Given the description of an element on the screen output the (x, y) to click on. 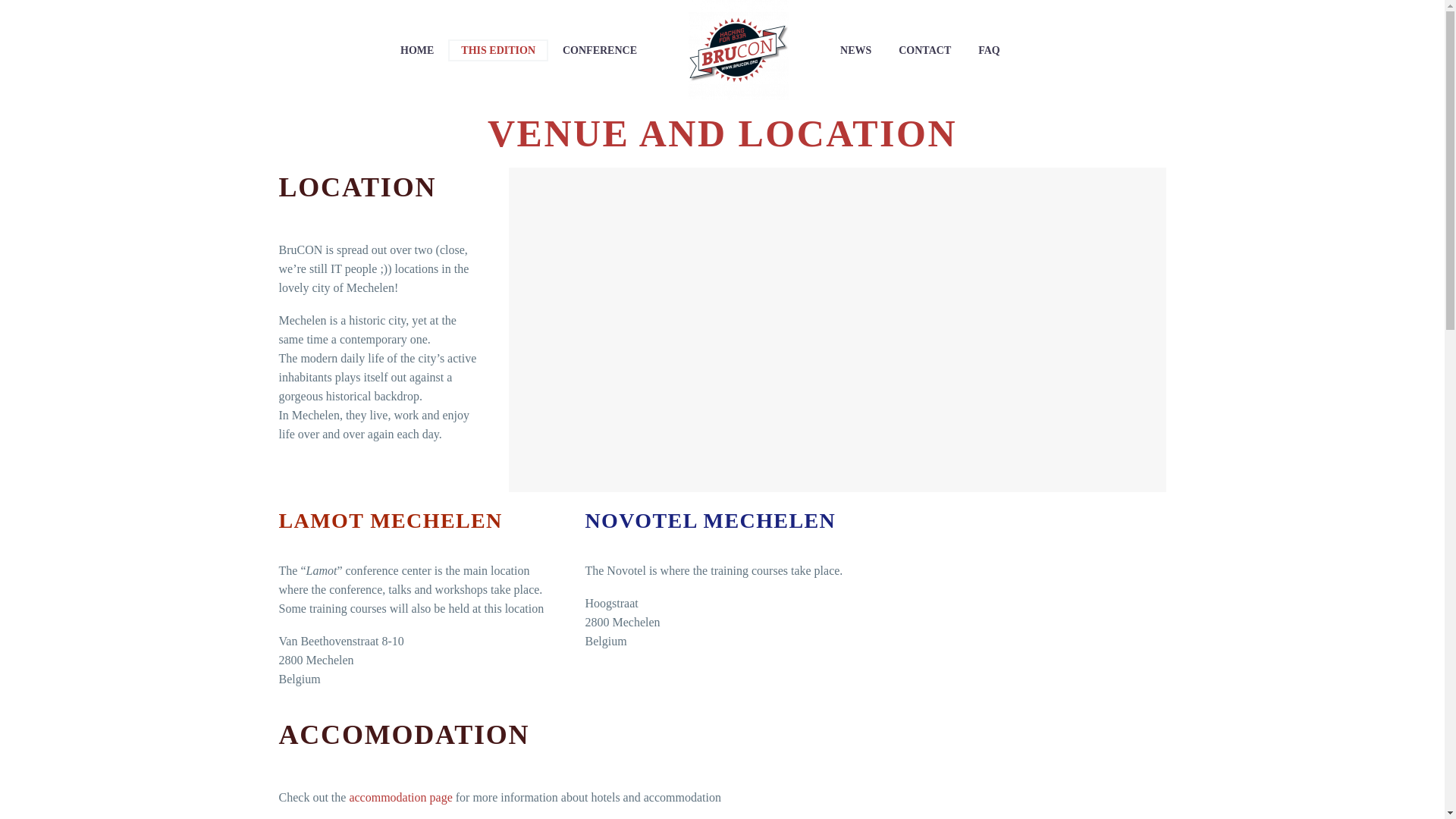
CONFERENCE (599, 49)
NEWS (855, 49)
HOME (416, 49)
THIS EDITION (498, 50)
CONTACT (924, 49)
